Given the description of an element on the screen output the (x, y) to click on. 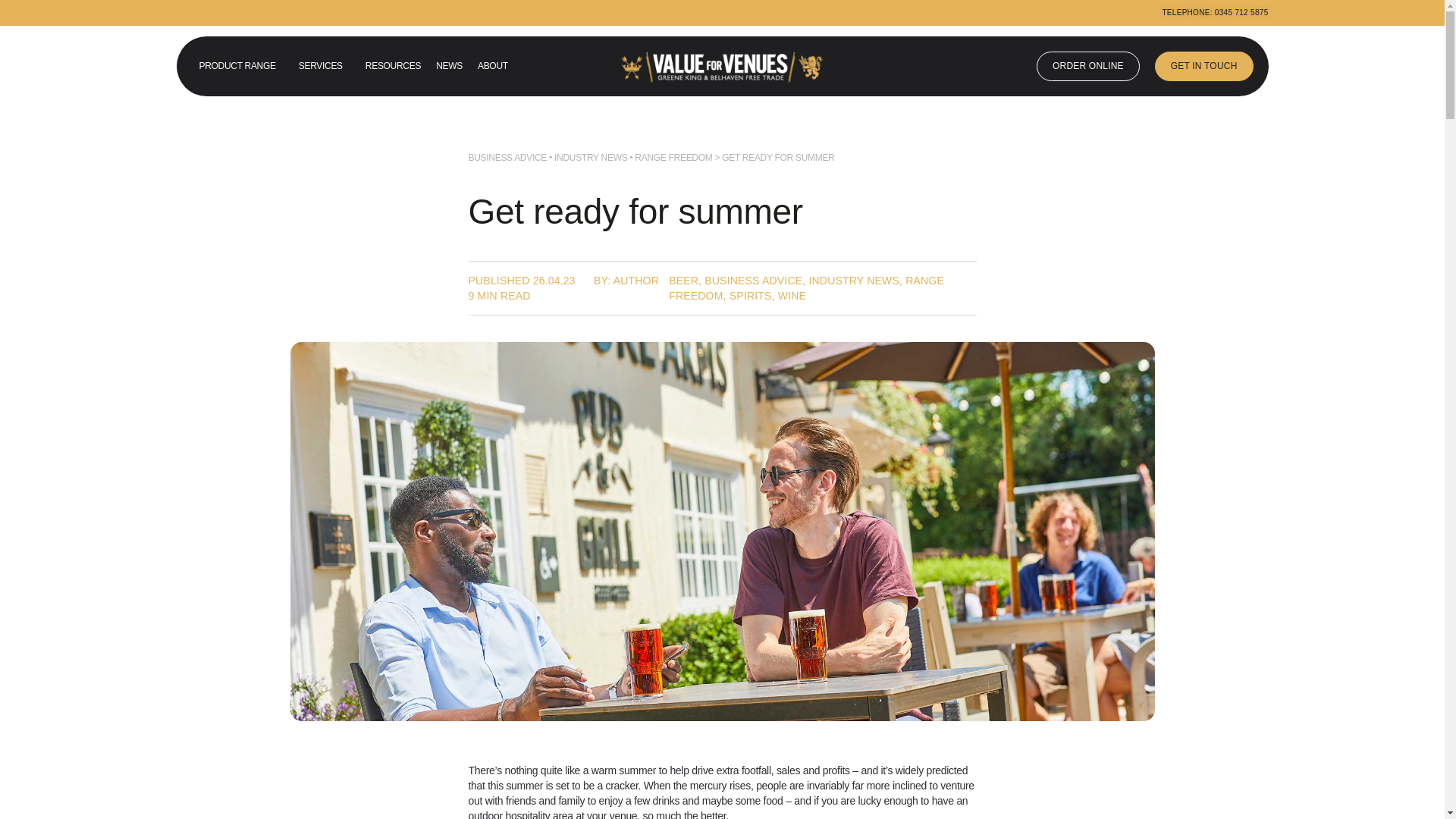
RANGE FREEDOM (672, 157)
INDUSTRY NEWS (590, 157)
PRODUCT RANGE (239, 66)
ORDER ONLINE (1088, 66)
0345 712 5875 (1241, 12)
NEWS (449, 66)
BUSINESS ADVICE (507, 157)
RESOURCES (393, 66)
SERVICES (324, 66)
GET IN TOUCH (1203, 66)
